Given the description of an element on the screen output the (x, y) to click on. 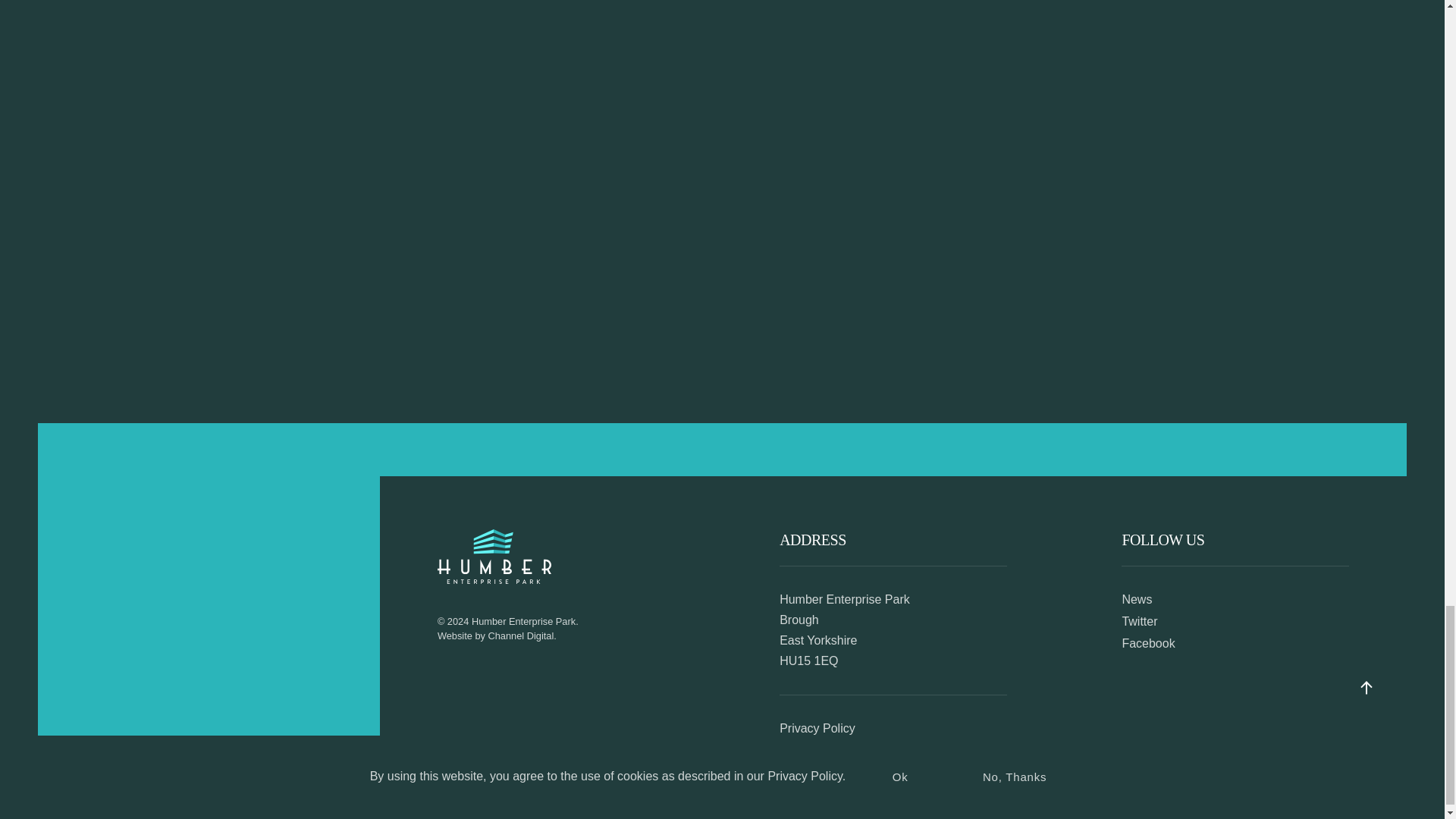
Open channeldigital.co.uk in a new tab (520, 635)
